Given the description of an element on the screen output the (x, y) to click on. 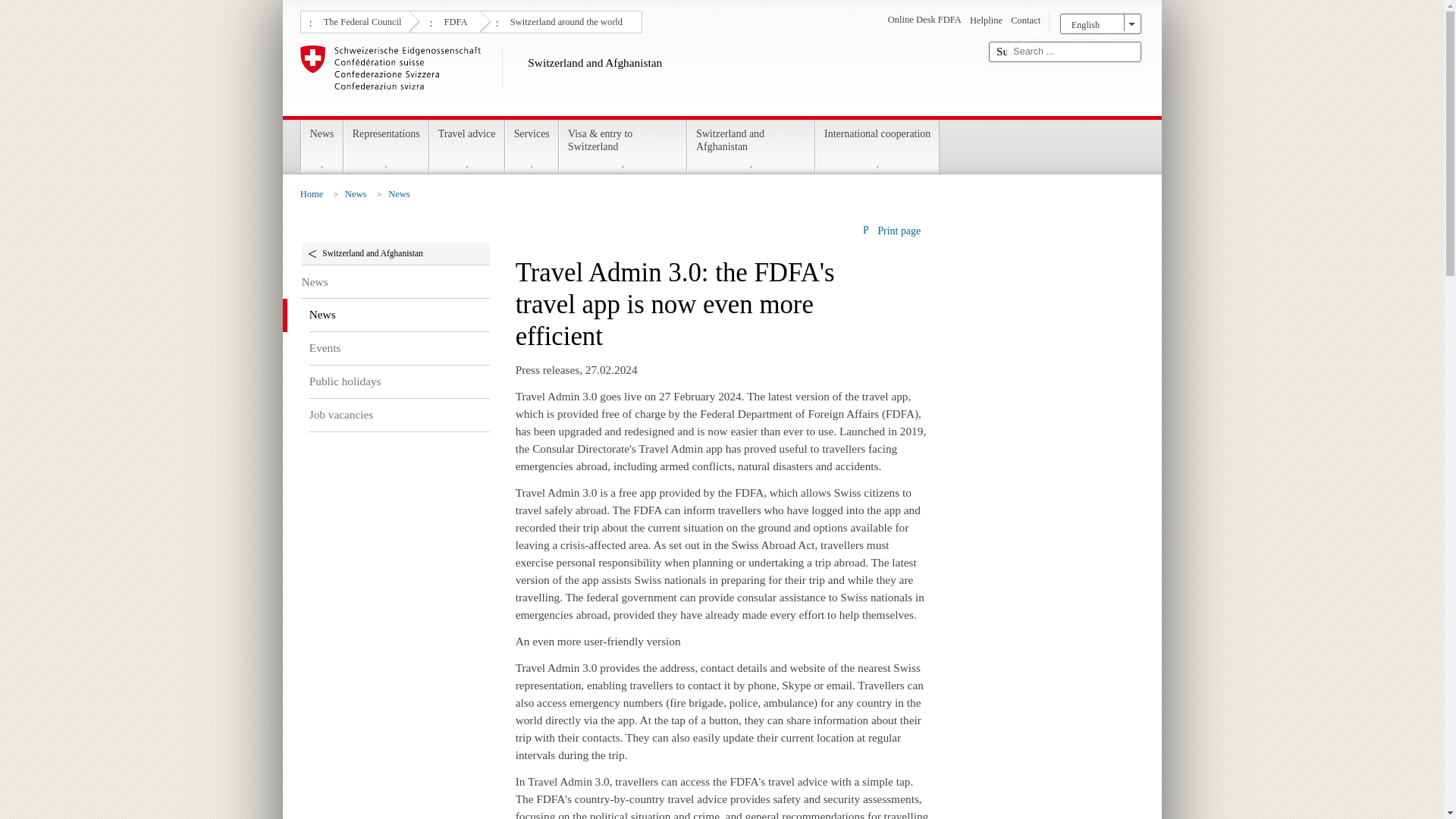
Switzerland around the world (564, 20)
FDFA (454, 20)
The Federal Council (360, 20)
Switzerland and Afghanistan (637, 76)
